Given the description of an element on the screen output the (x, y) to click on. 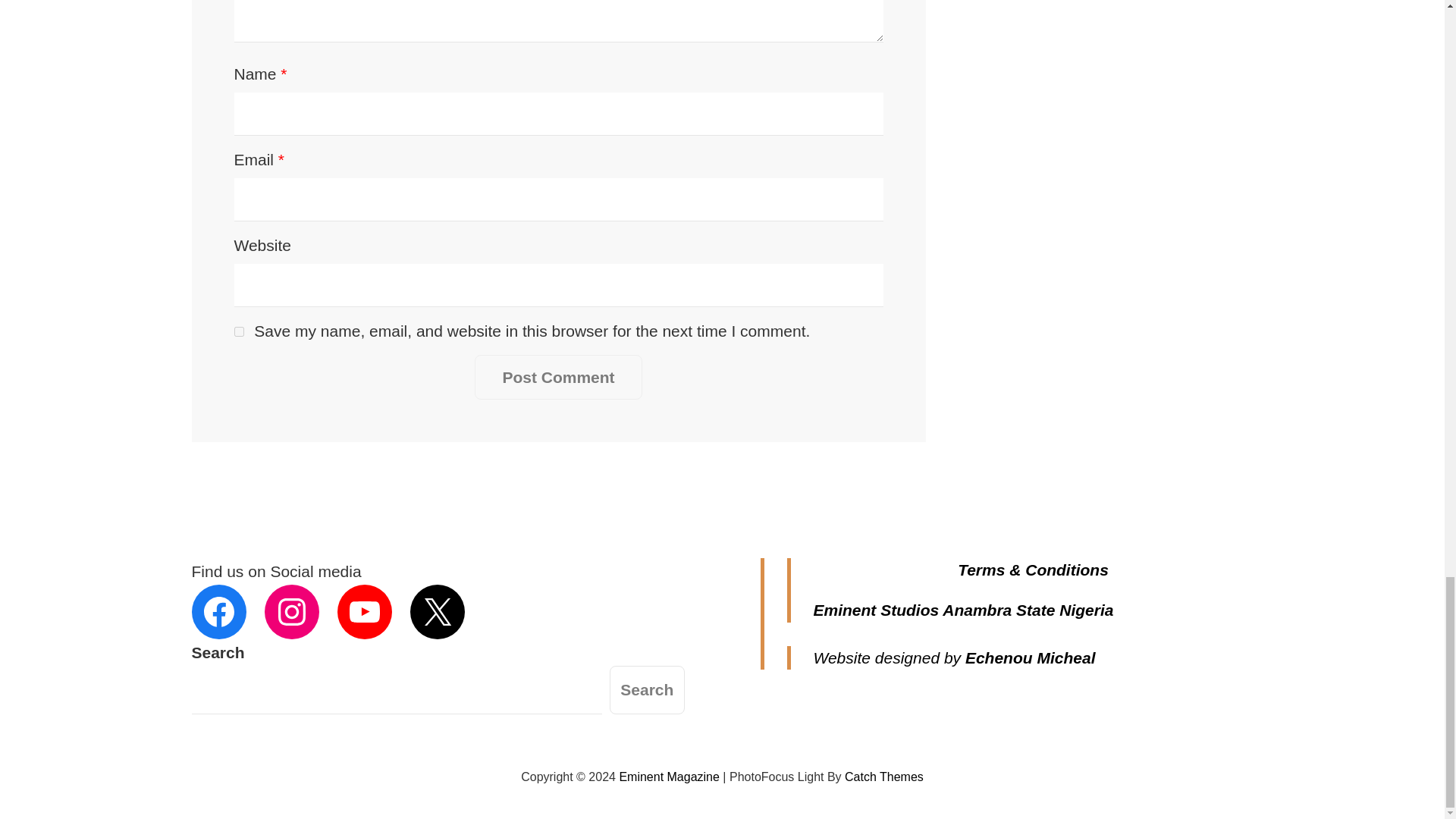
Search (647, 689)
Post Comment (558, 377)
Echenou Micheal (1030, 657)
Post Comment (558, 377)
Eminent Magazine (668, 776)
yes (237, 331)
